Given the description of an element on the screen output the (x, y) to click on. 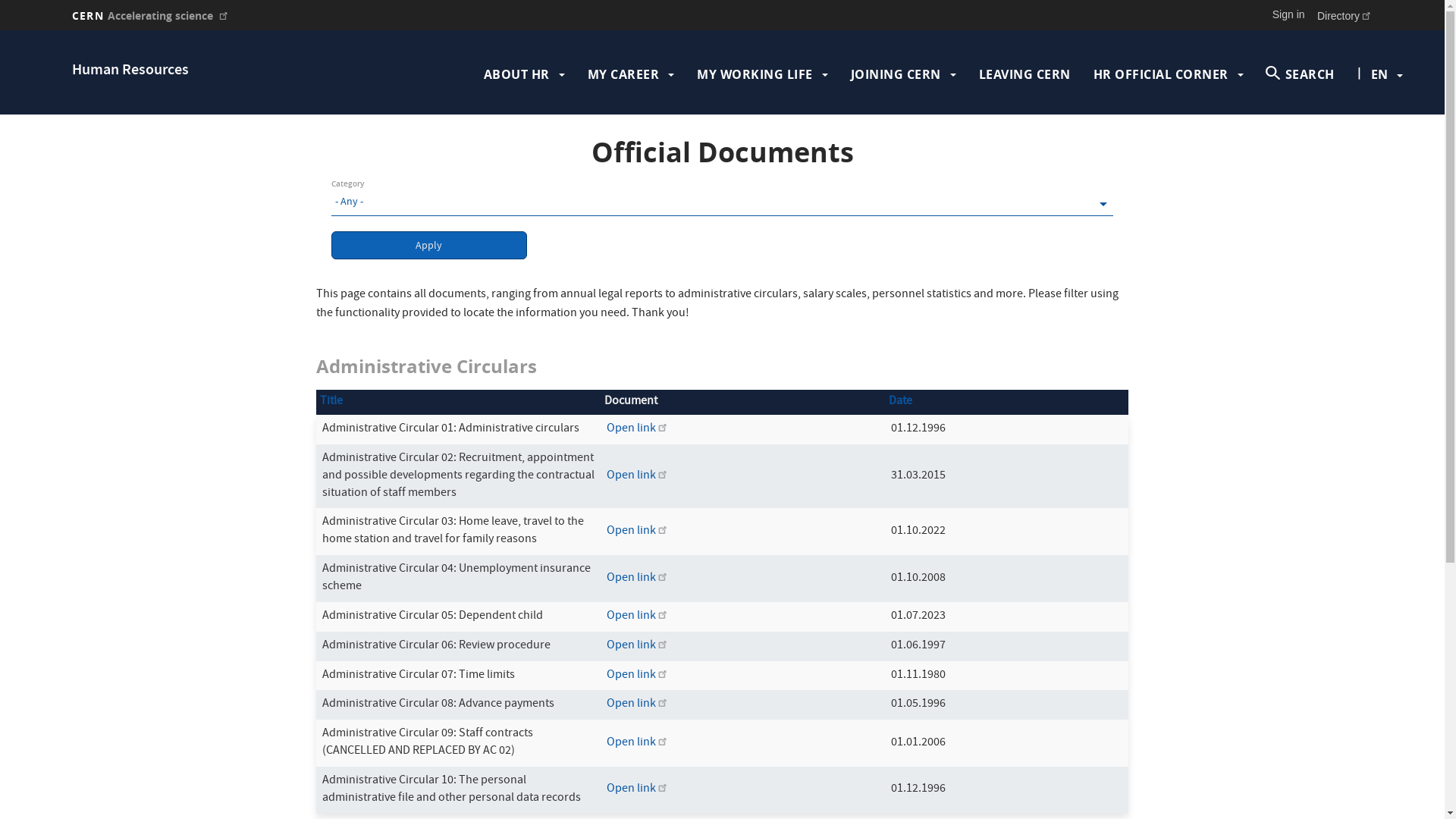
Skip to main content Element type: text (0, 30)
Open link(link is external) Element type: text (637, 789)
Apply Element type: text (429, 245)
HR OFFICIAL CORNER Element type: text (1160, 74)
Open link(link is external) Element type: text (637, 531)
CERN Accelerating science (link is external) Element type: text (150, 14)
Open link(link is external) Element type: text (637, 429)
Open link(link is external) Element type: text (637, 675)
MY CAREER Element type: text (623, 74)
SEARCH Element type: text (1300, 74)
ABOUT HR Element type: text (516, 74)
Title Element type: text (331, 401)
Open link(link is external) Element type: text (637, 743)
Human Resources Element type: text (130, 70)
Open link(link is external) Element type: text (637, 646)
MY WORKING LIFE Element type: text (754, 74)
Directory(link is external) Element type: text (1344, 14)
Open link(link is external) Element type: text (637, 476)
LEAVING CERN Element type: text (1024, 74)
|
EN Element type: text (1379, 73)
Sign in Element type: text (1288, 14)
Date Element type: text (900, 401)
Open link(link is external) Element type: text (637, 704)
Open link(link is external) Element type: text (637, 578)
JOINING CERN Element type: text (895, 74)
Open link(link is external) Element type: text (637, 616)
